Given the description of an element on the screen output the (x, y) to click on. 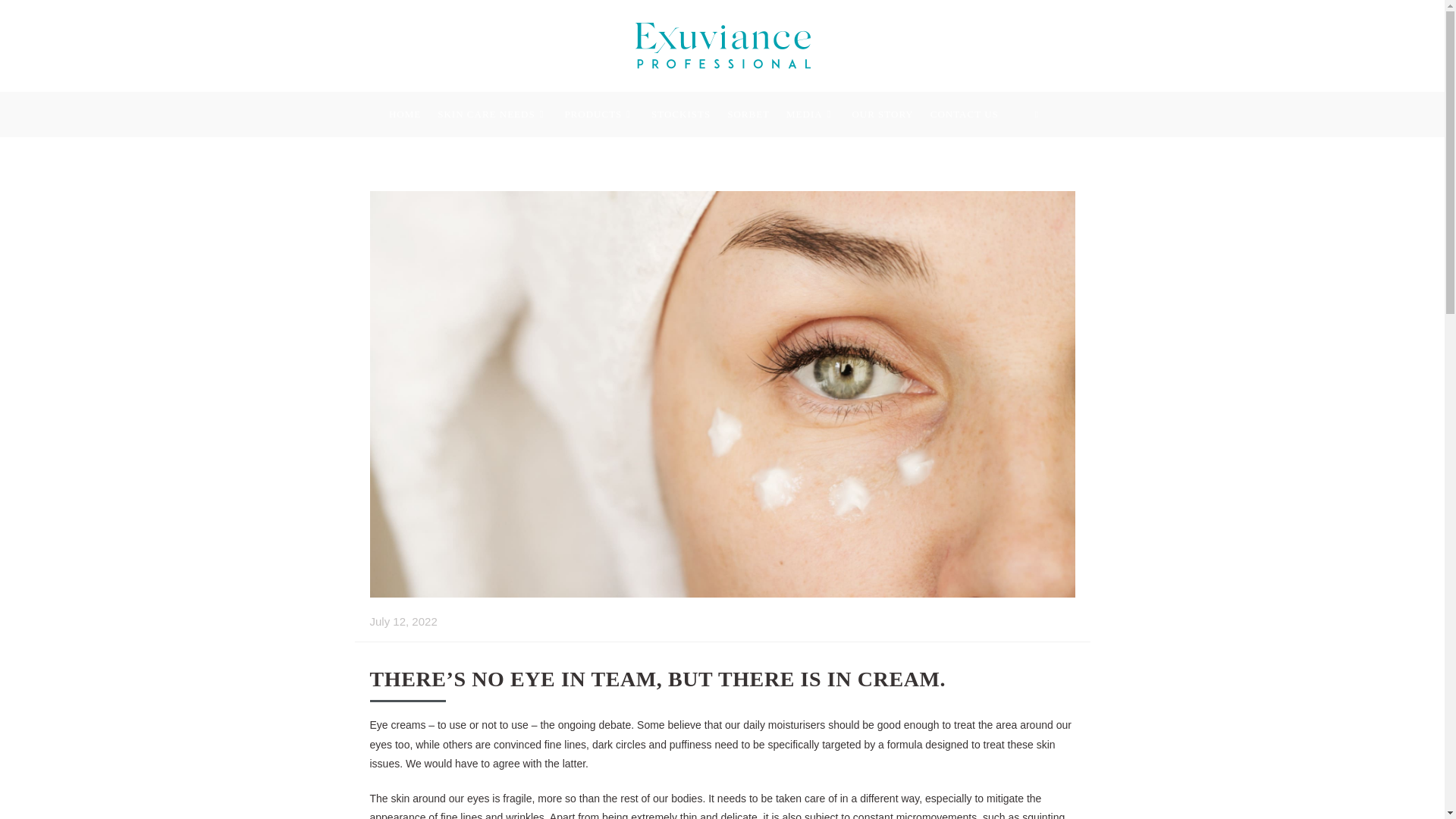
CONTACT US (972, 114)
STOCKISTS (688, 114)
SKIN CARE NEEDS (501, 114)
PRODUCTS (607, 114)
OUR STORY (890, 114)
SORBET (756, 114)
HOME (413, 114)
MEDIA (818, 114)
